Given the description of an element on the screen output the (x, y) to click on. 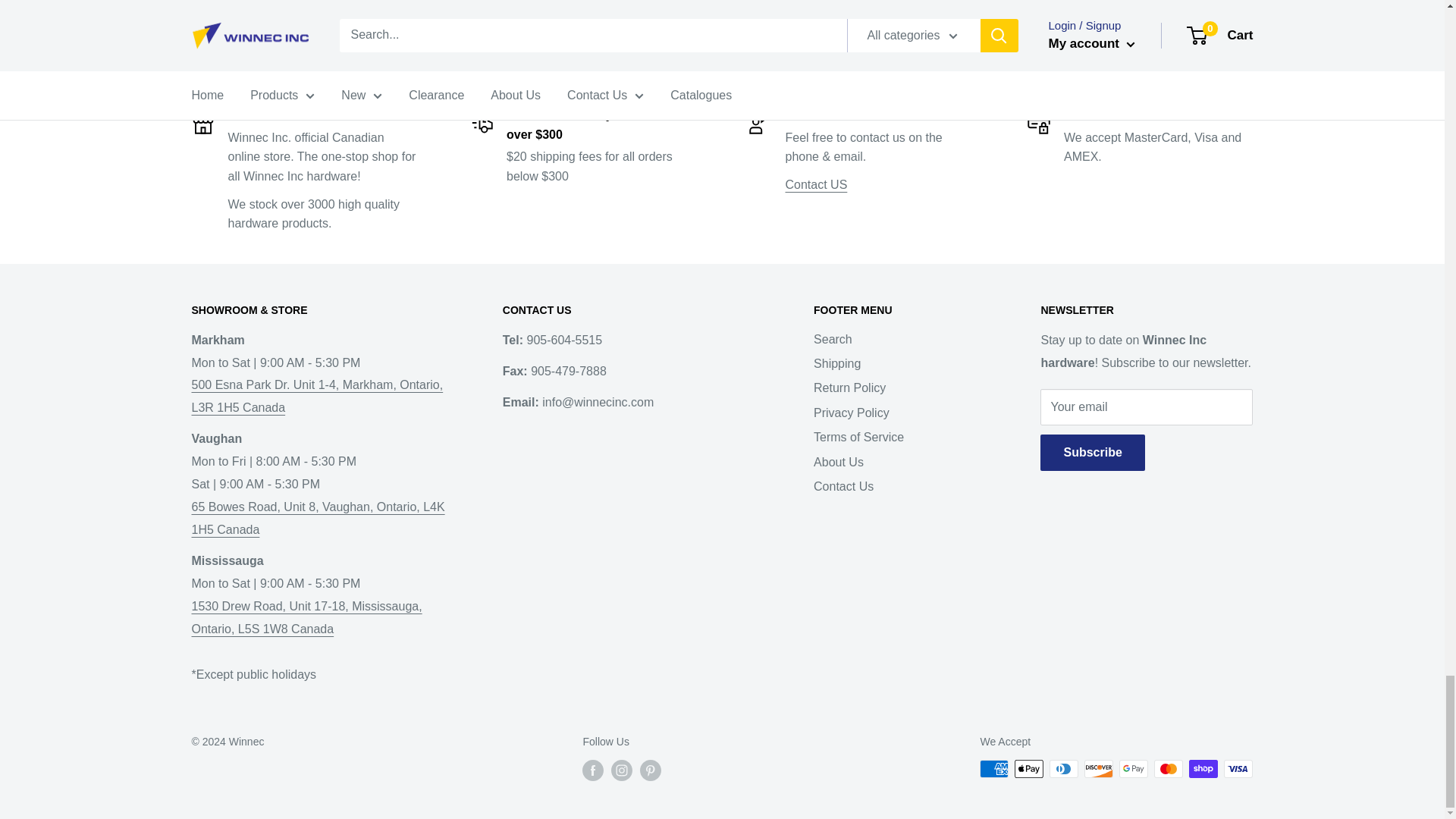
Contact Us (816, 184)
Winnec Markham (316, 396)
Winnec Vaughan (317, 529)
Winnec Mississauga (306, 639)
